Given the description of an element on the screen output the (x, y) to click on. 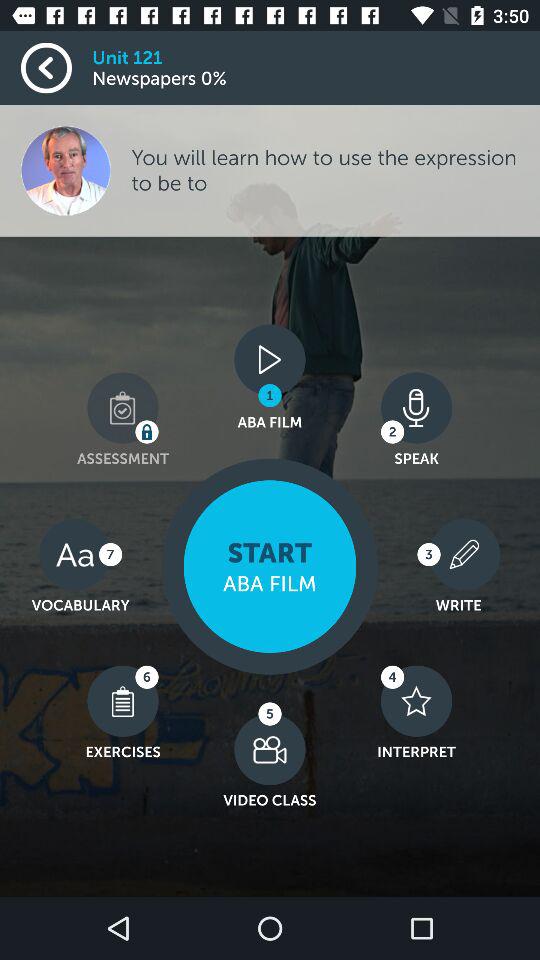
click on the start option (270, 566)
select the image which is below the newspapers 0 (65, 170)
select the text which is right to the vocabulary (269, 566)
